Given the description of an element on the screen output the (x, y) to click on. 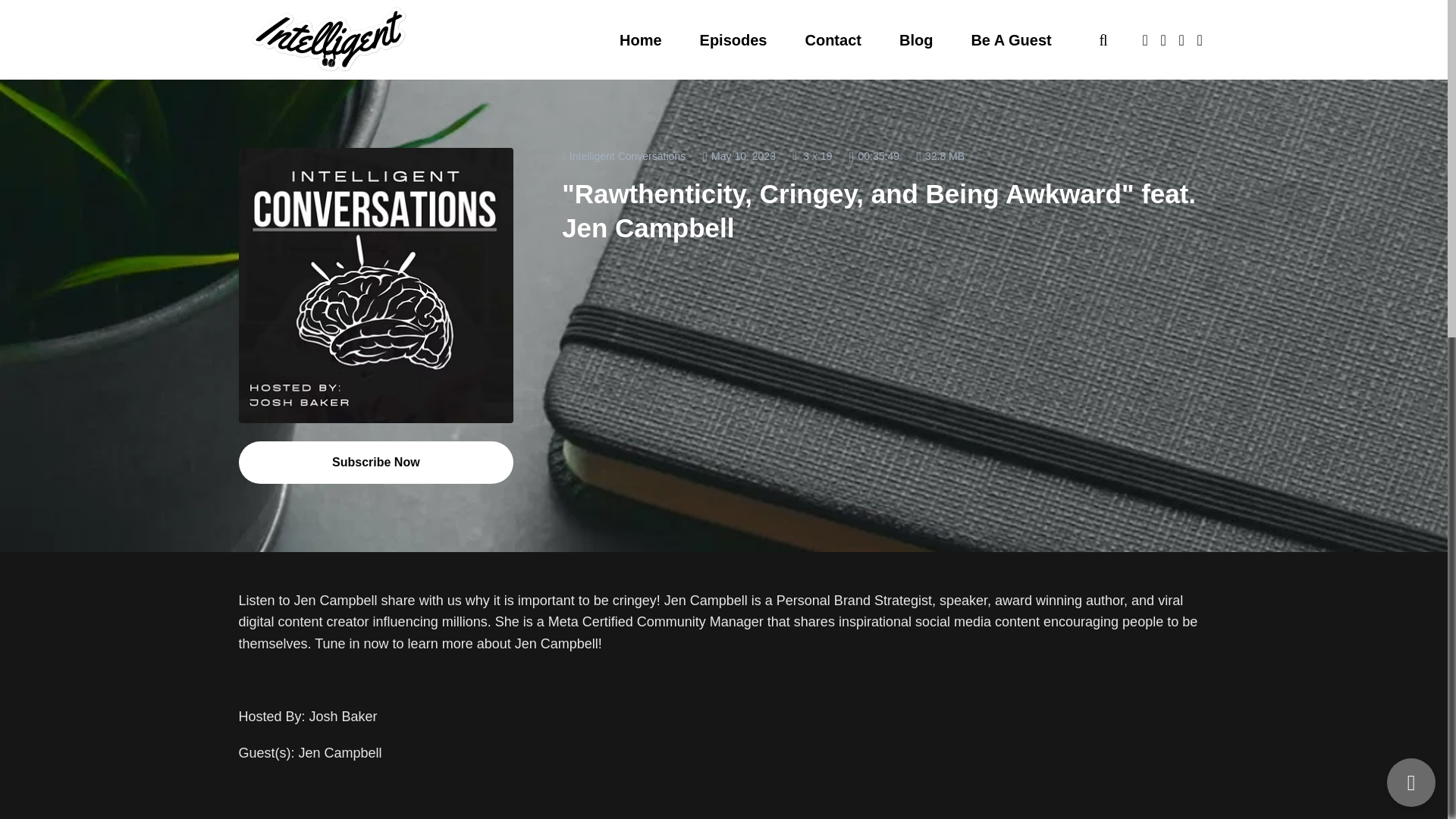
Subscribe Now (375, 462)
Blog (916, 39)
Be A Guest (1011, 39)
Date (739, 155)
Episode Duration (873, 155)
Facebook (403, 818)
Home (640, 39)
Podcast (623, 155)
Instagram (517, 818)
Intelligent Conversations (623, 156)
LinkedIn (582, 818)
Episodes (733, 39)
Episode Weight (939, 155)
Contact (832, 39)
